Given the description of an element on the screen output the (x, y) to click on. 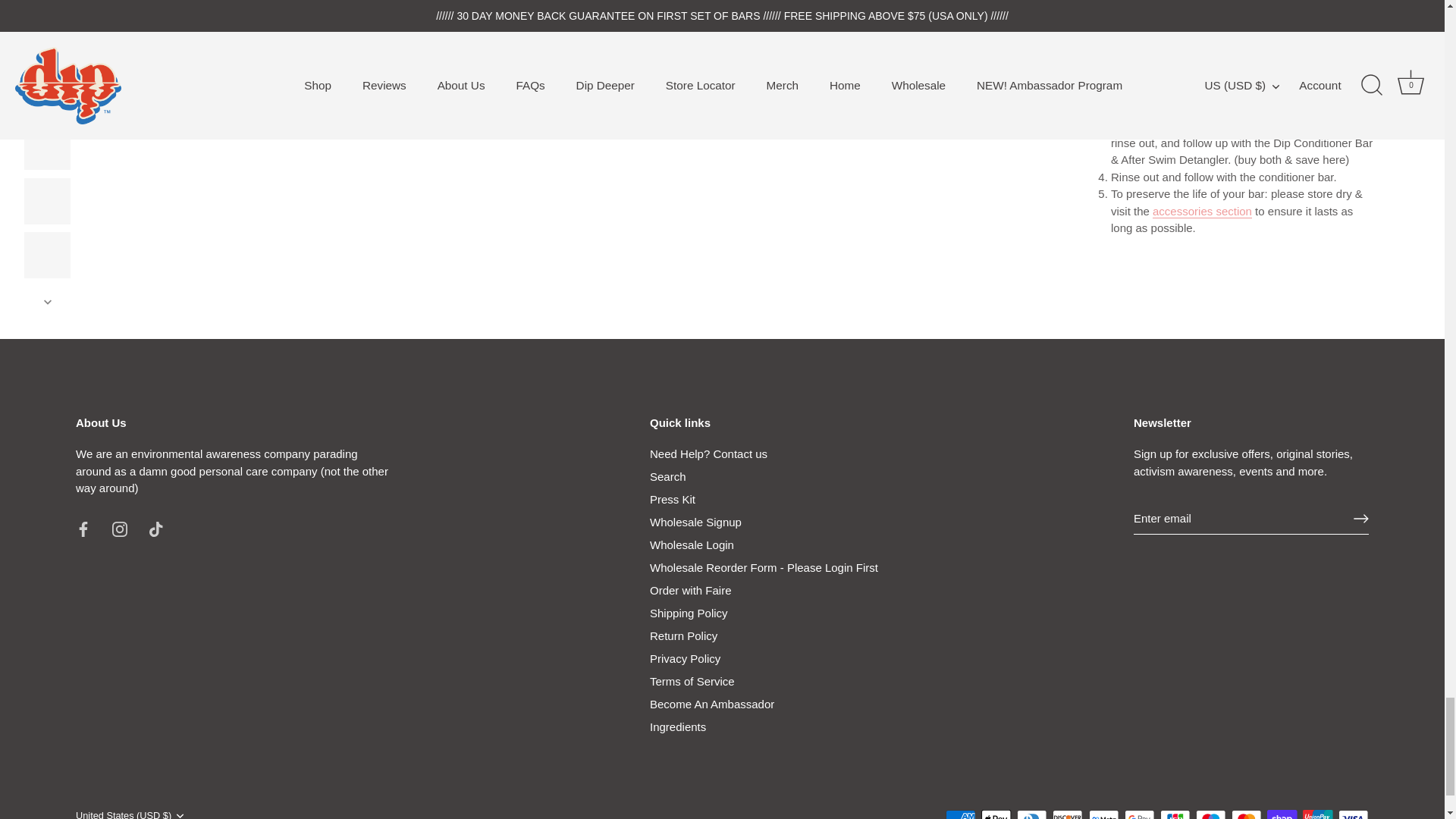
Mastercard (1245, 814)
RIGHT ARROW LONG (1361, 518)
Meta Pay (1104, 814)
Maestro (1210, 814)
Apple Pay (996, 814)
Visa (1353, 814)
Google Pay (1139, 814)
Diners Club (1031, 814)
About Us (231, 470)
Instagram (120, 529)
JCB (1174, 814)
Shop Pay (1281, 814)
Discover (1067, 814)
American Express (959, 814)
Union Pay (1317, 814)
